Given the description of an element on the screen output the (x, y) to click on. 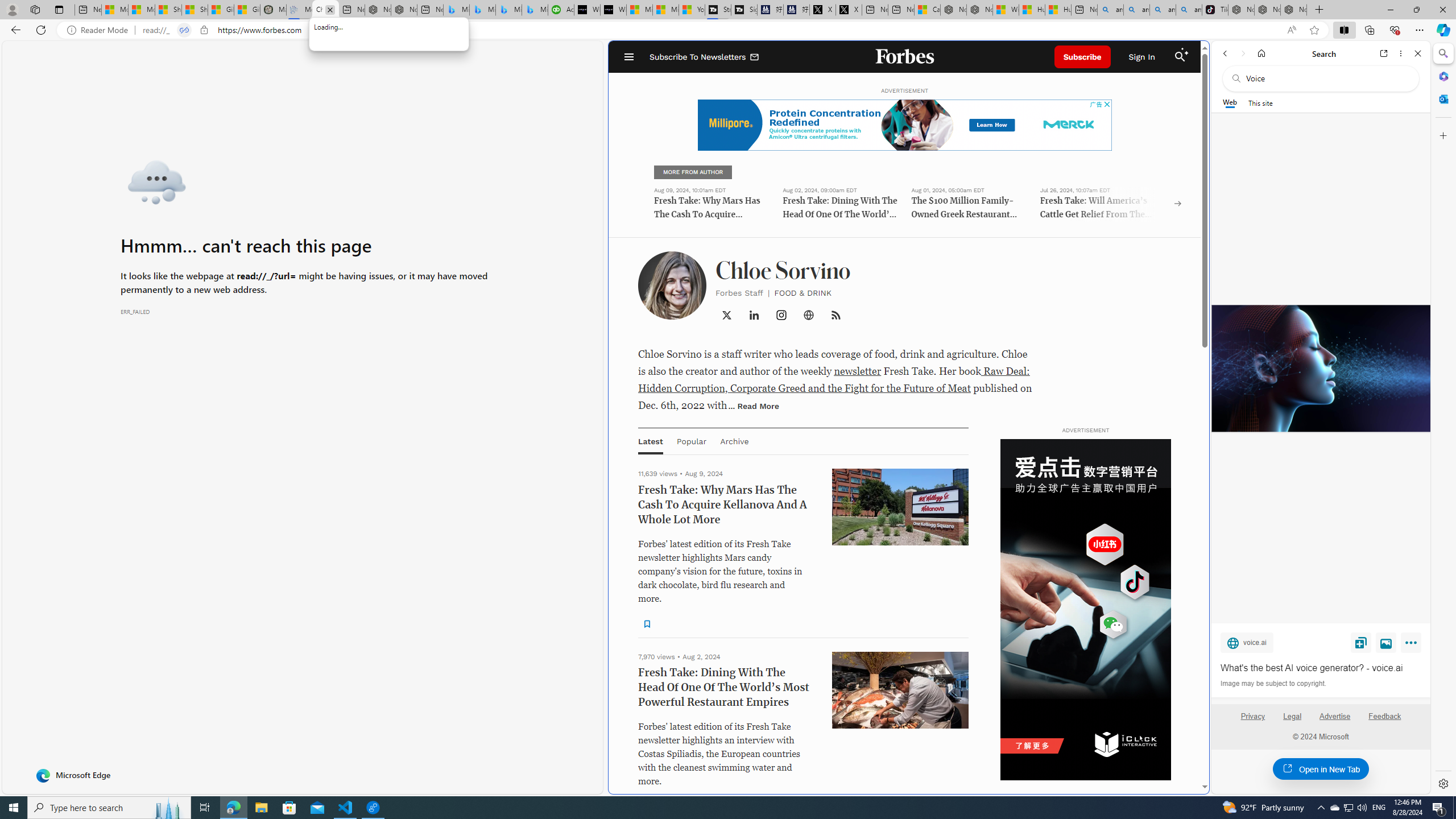
Nordace - #1 Japanese Best-Seller - Siena Smart Backpack (403, 9)
amazon - Search Images (1188, 9)
More options (1401, 53)
Nordace - Siena Pro 15 Essential Set (1293, 9)
Class: j2XH_ (835, 315)
Microsoft Bing Travel - Shangri-La Hotel Bangkok (534, 9)
More (1413, 644)
Sign In (1141, 56)
Open in New Tab (1321, 768)
